Given the description of an element on the screen output the (x, y) to click on. 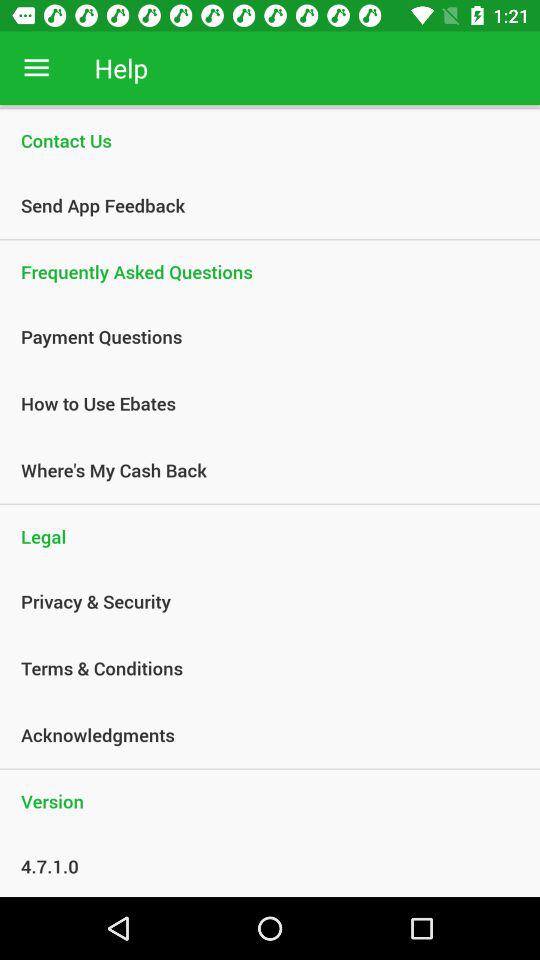
press payment questions (259, 336)
